Given the description of an element on the screen output the (x, y) to click on. 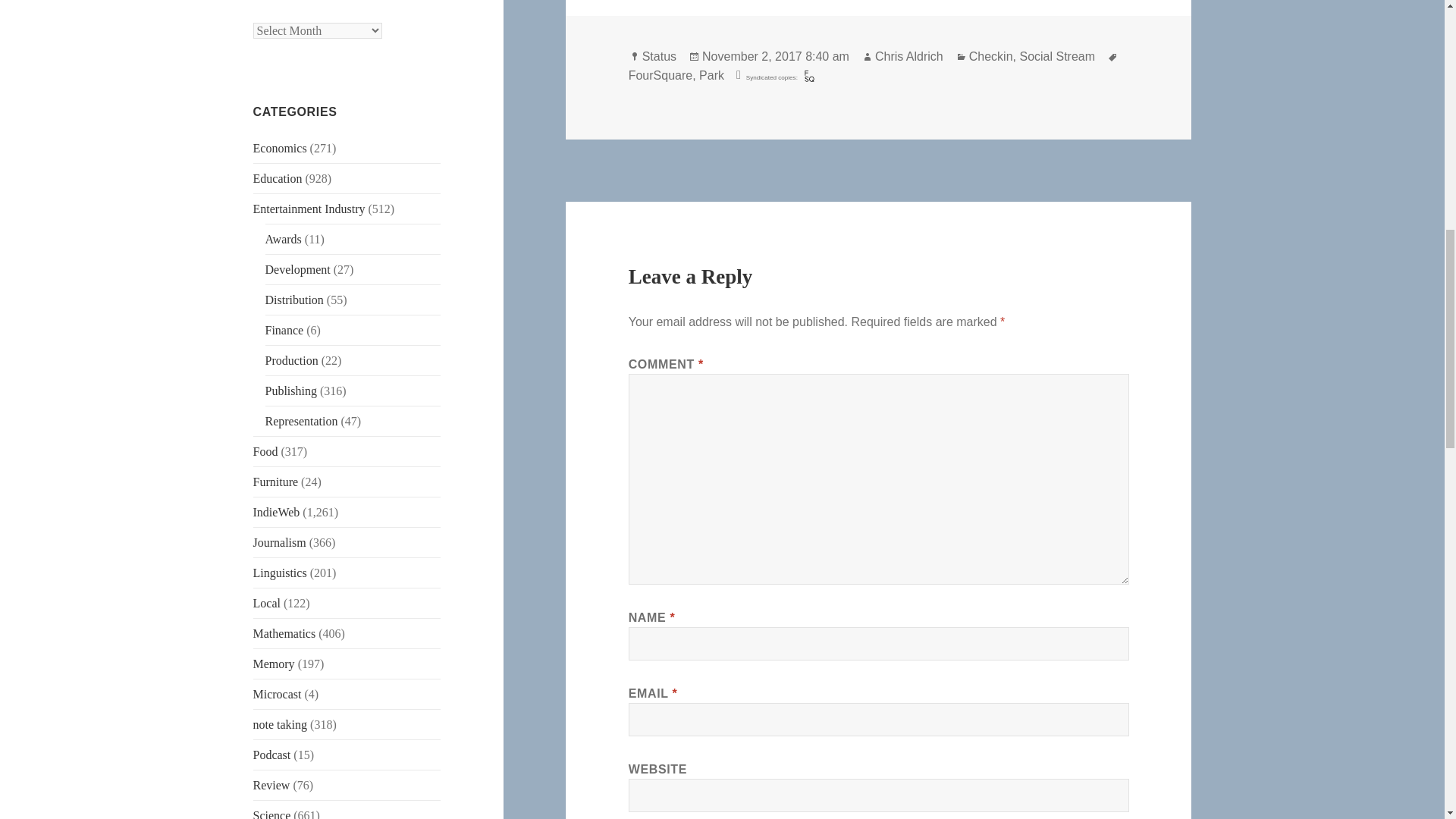
Foursquare (809, 75)
